Given the description of an element on the screen output the (x, y) to click on. 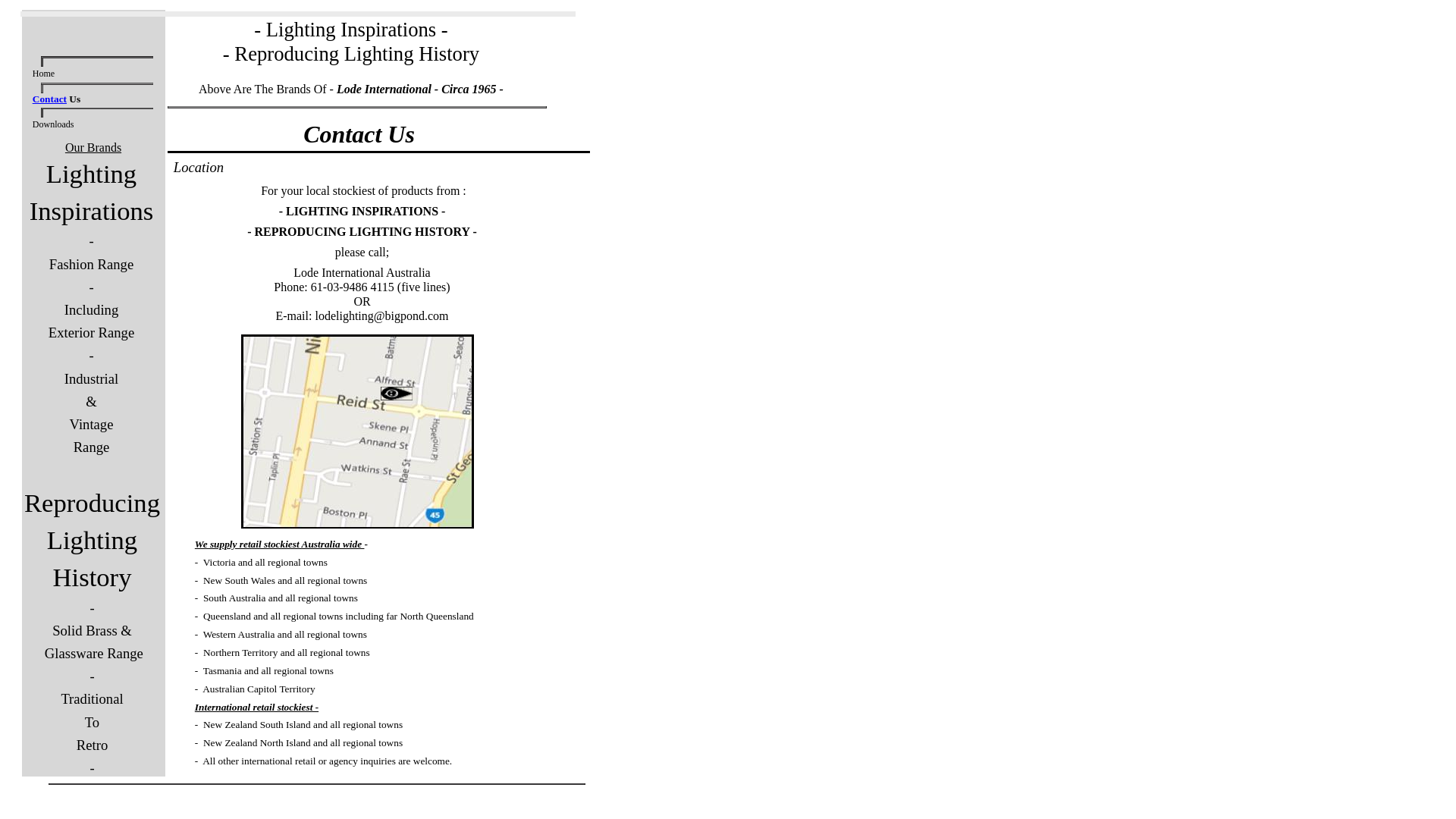
Contact Element type: text (49, 98)
